Given the description of an element on the screen output the (x, y) to click on. 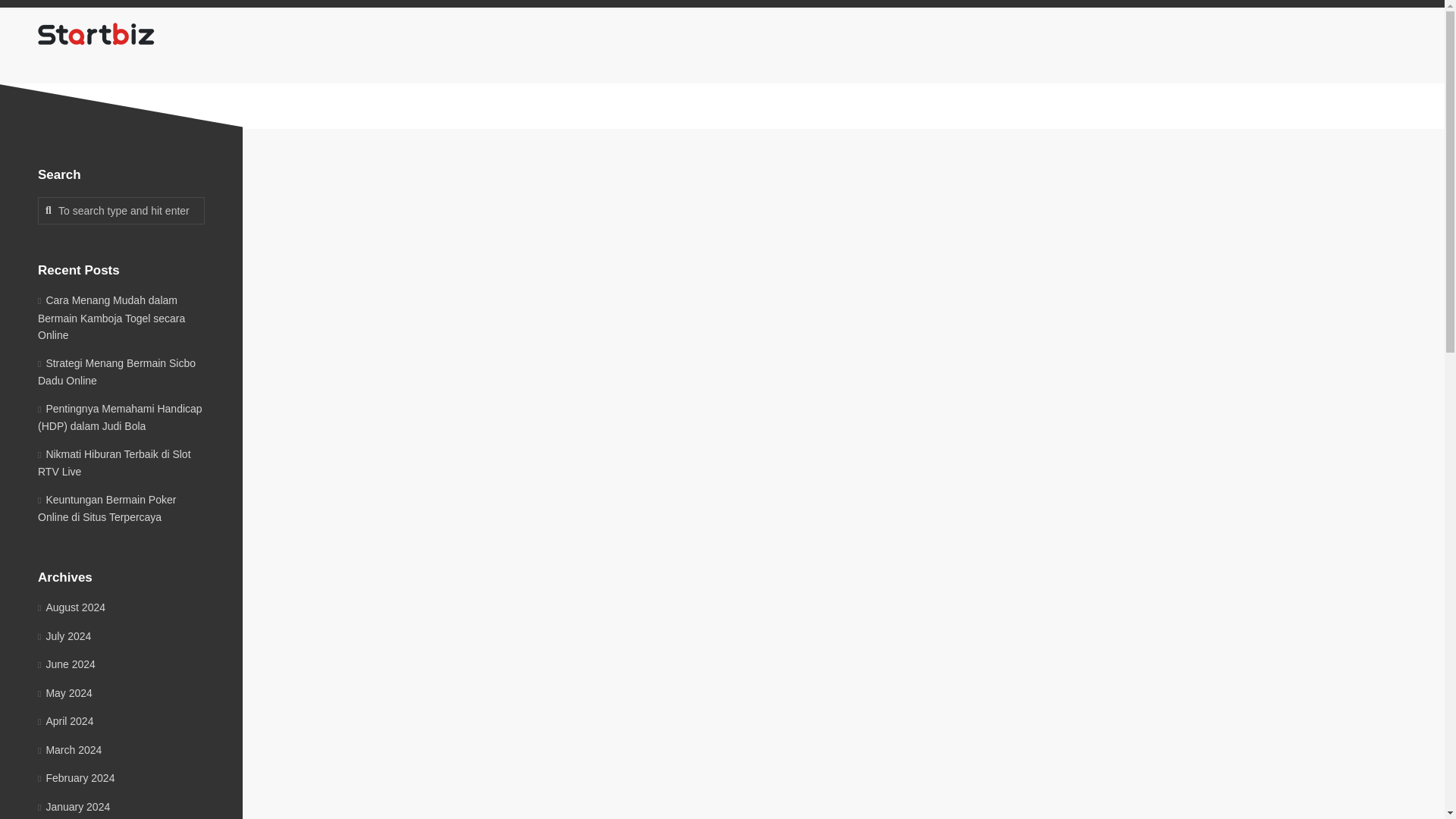
January 2024 (73, 806)
May 2024 (65, 693)
How to Find the Best Online Lottery Software (805, 302)
Strategi Menang Bermain Sicbo Dadu Online (116, 371)
February 2024 (76, 777)
To search type and hit enter (121, 210)
July 2024 (63, 635)
Gambling (809, 376)
Keuntungan Bermain Poker Online di Situs Terpercaya (106, 508)
June 2024 (66, 664)
Posts by adminsss (748, 376)
Cara Menang Mudah dalam Bermain Kamboja Togel secara Online (110, 317)
Nikmati Hiburan Terbaik di Slot RTV Live (113, 462)
March 2024 (69, 748)
August 2024 (70, 607)
